Given the description of an element on the screen output the (x, y) to click on. 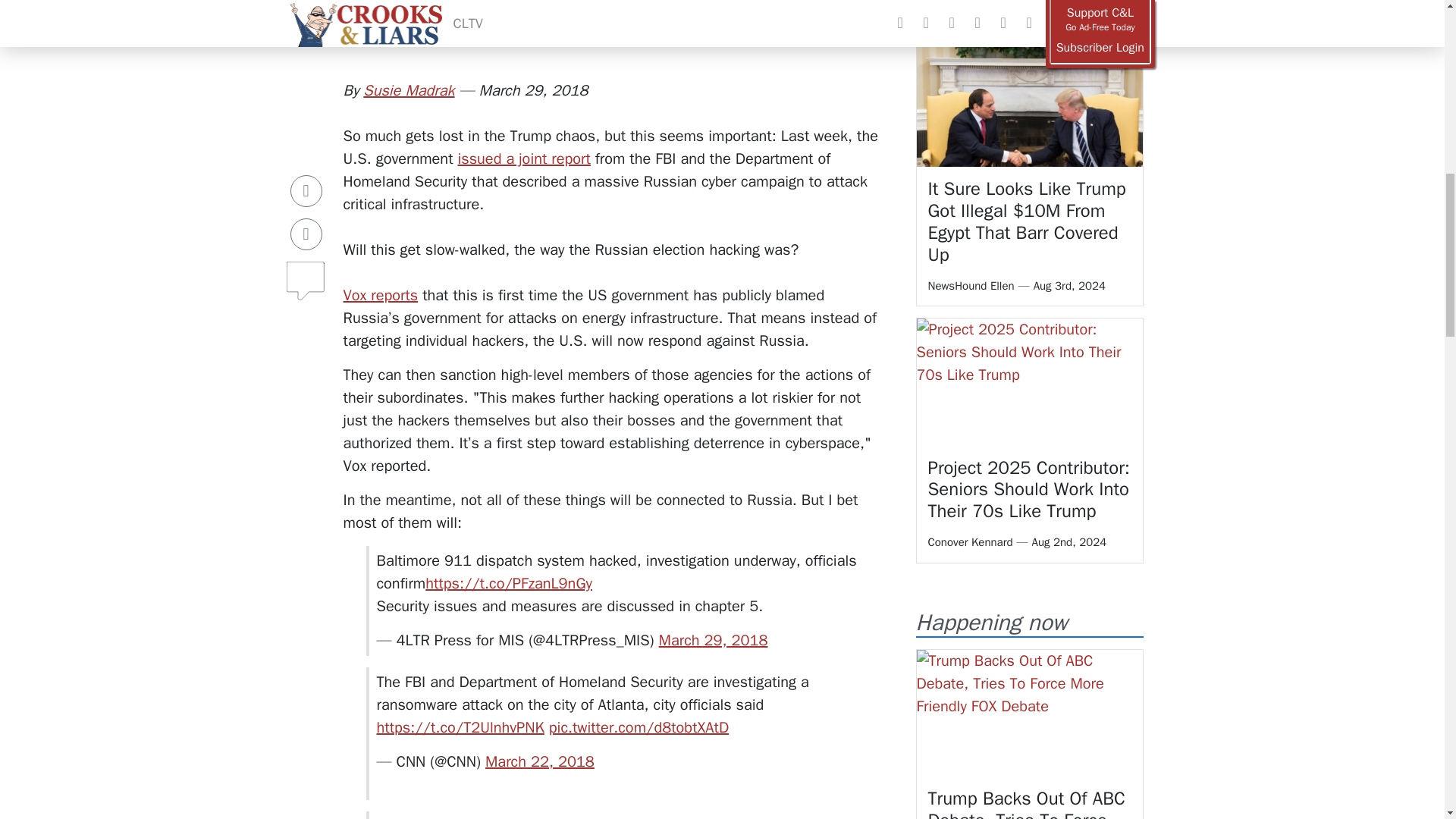
issued a joint report (524, 158)
March 22, 2018 (539, 761)
Comments (306, 202)
Susie Madrak (408, 90)
Share on Facebook (306, 118)
Vox reports (379, 294)
March 29, 2018 (713, 640)
Share on Twitter (306, 161)
Susie Madrak (408, 90)
